Given the description of an element on the screen output the (x, y) to click on. 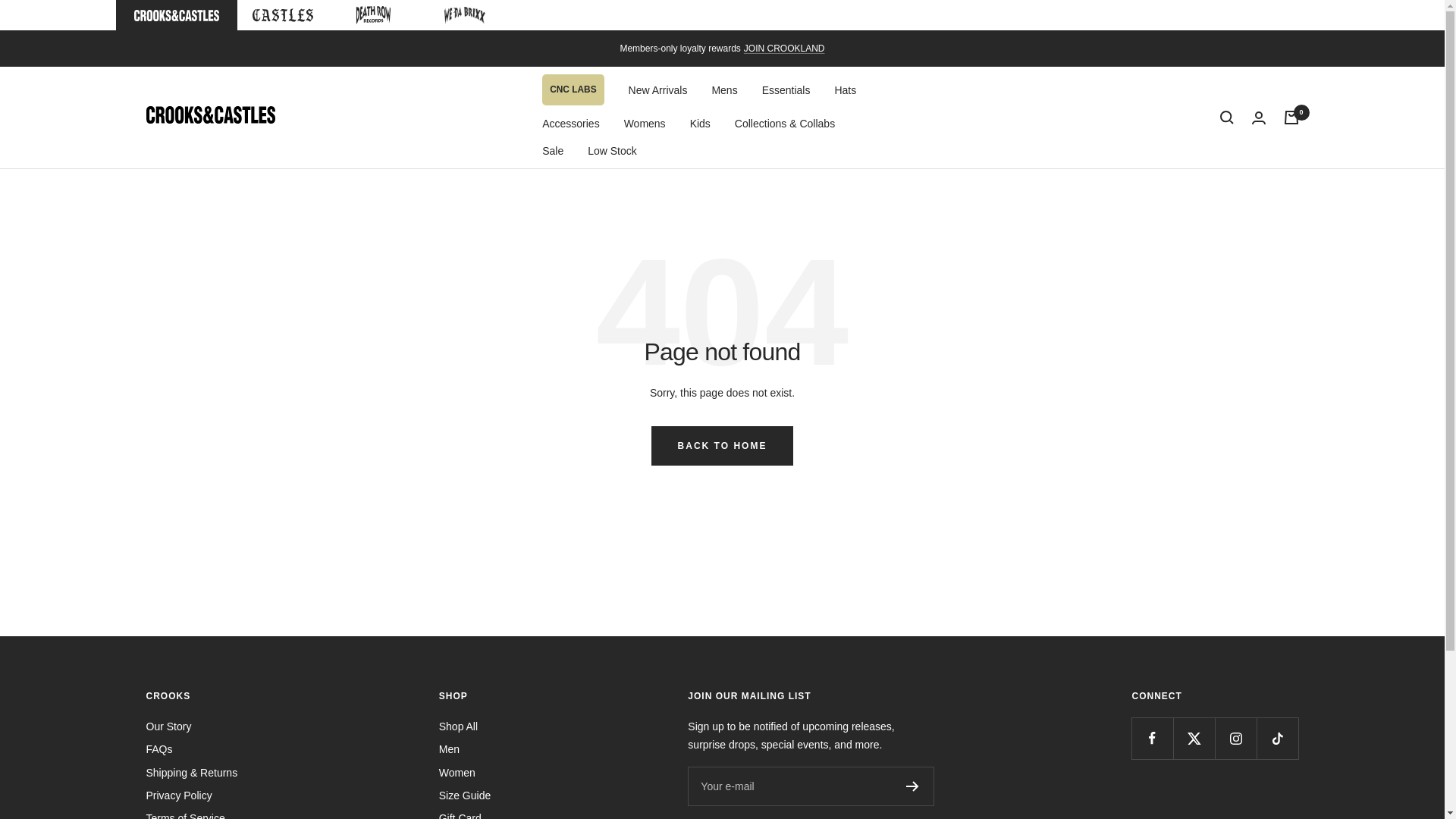
JOIN CROOKLAND (784, 48)
Kids (700, 123)
Low Stock (612, 150)
Womens (644, 123)
Essentials (785, 90)
Register (911, 786)
Terms of Service (184, 814)
Men (449, 749)
0 (1291, 117)
BACK TO HOME (721, 445)
